Given the description of an element on the screen output the (x, y) to click on. 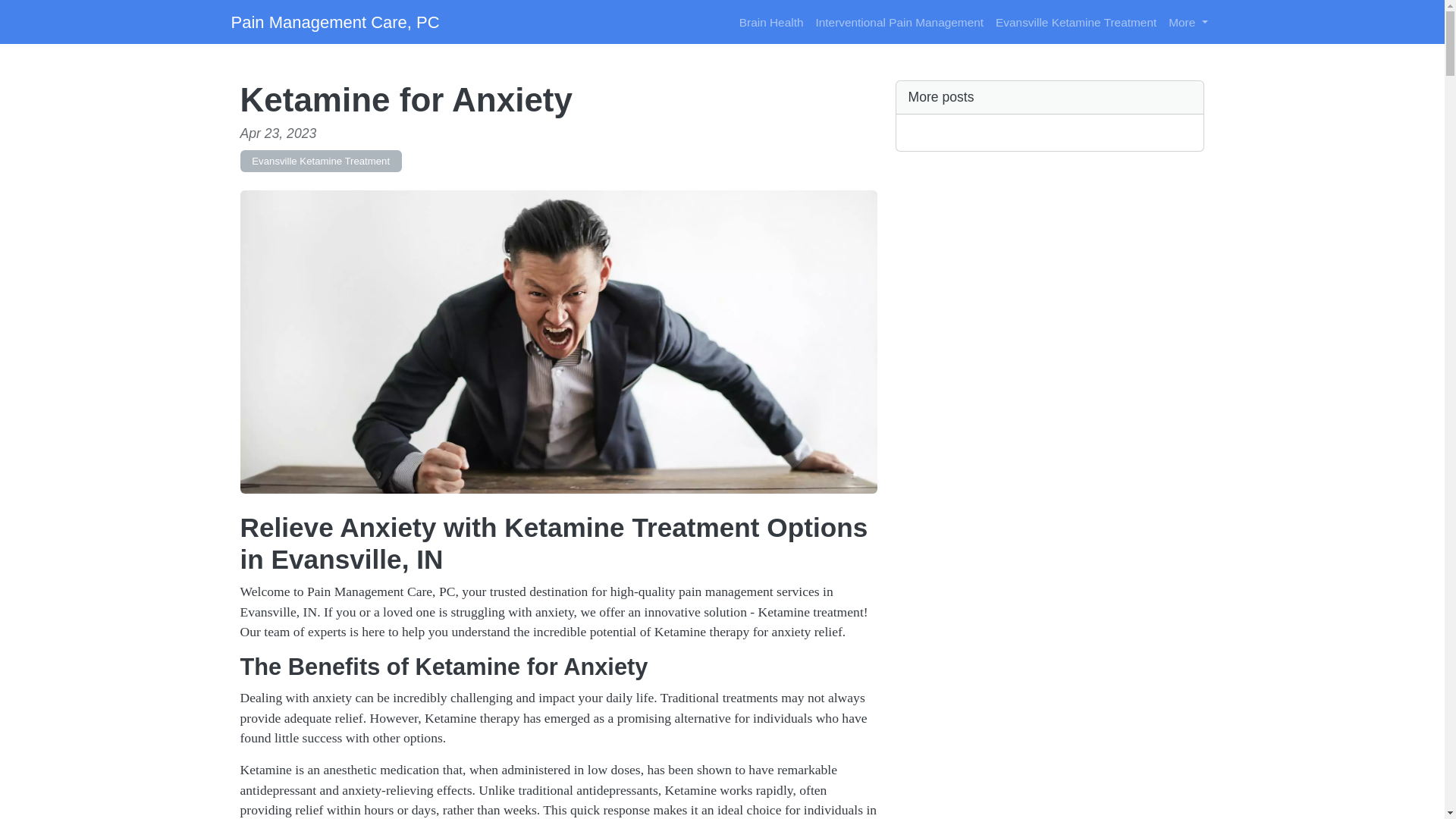
Interventional Pain Management (899, 21)
Pain Management Care, PC (334, 21)
Brain Health (771, 21)
Evansville Ketamine Treatment (1075, 21)
More (1186, 21)
Evansville Ketamine Treatment (320, 160)
